Given the description of an element on the screen output the (x, y) to click on. 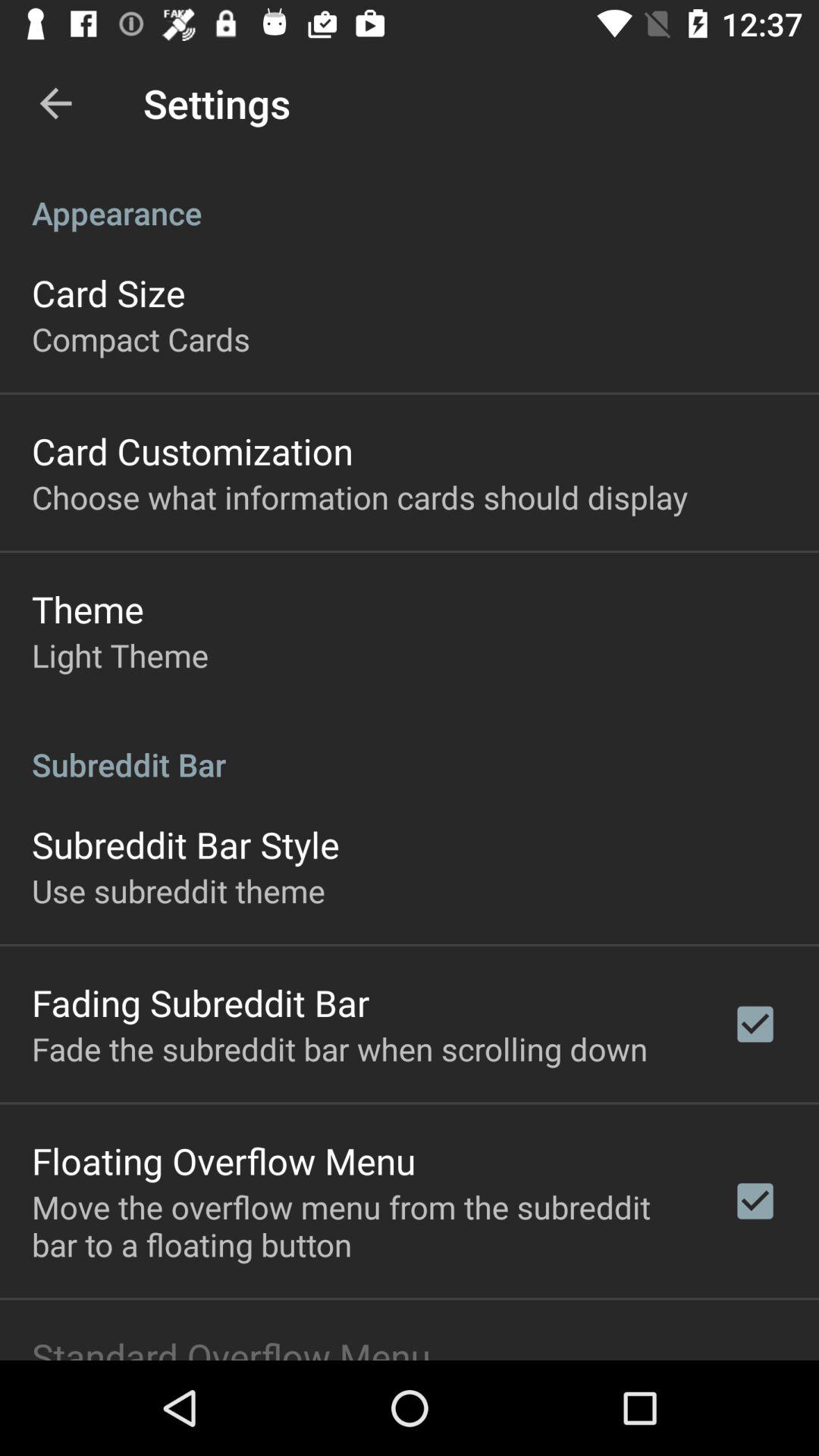
select the check box of fading subreddit bar (755, 1024)
